Given the description of an element on the screen output the (x, y) to click on. 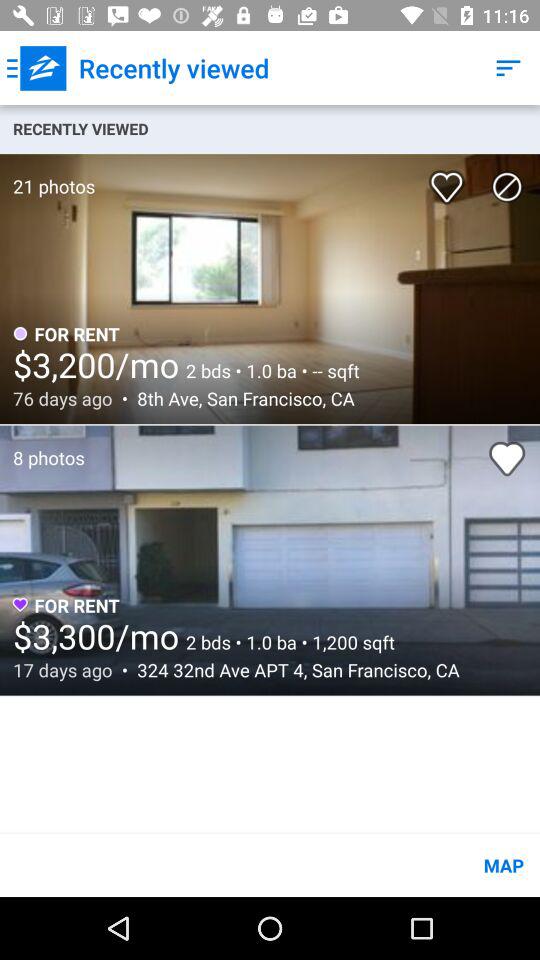
turn off icon to the right of 8 photos item (507, 458)
